Given the description of an element on the screen output the (x, y) to click on. 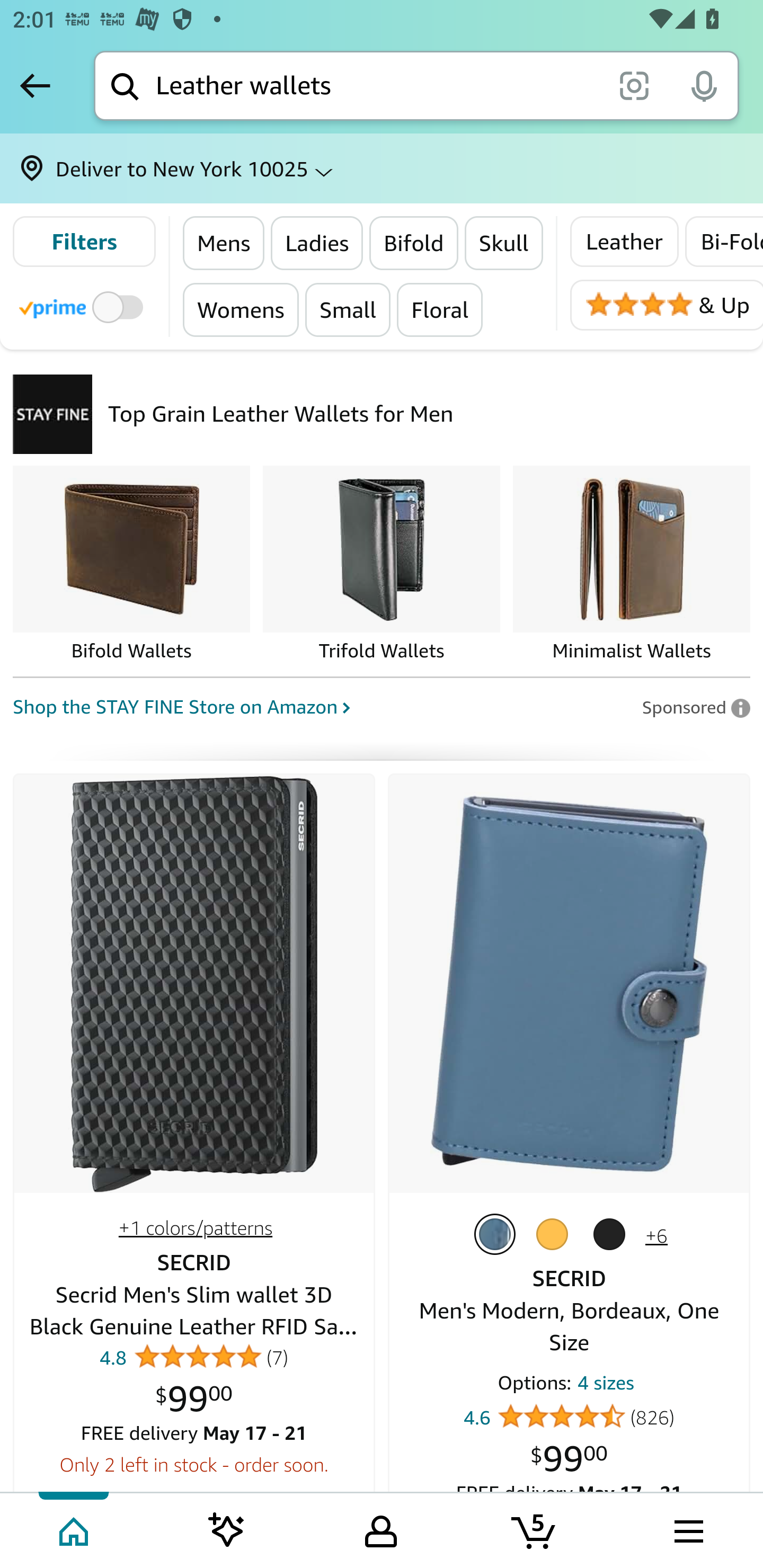
Back (35, 85)
scan it (633, 85)
Deliver to New York 10025 ⌵ (381, 168)
Filters (83, 241)
Mens (224, 242)
Ladies (316, 242)
Bifold (413, 242)
Skull (503, 242)
Leather (624, 241)
Bi-Fold (723, 241)
Toggle to filter by Prime products Prime Eligible (83, 306)
4 Stars & Up (666, 304)
Womens (241, 309)
Small (346, 309)
Floral (438, 309)
Go to store page for "Bifold Wallets". (131, 564)
Go to store page for "Trifold Wallets". (381, 564)
Go to store page for "Minimalist Wallets". (630, 564)
Leave feedback on Sponsored ad (695, 707)
SECRID Men's Modern, Bordeaux, One Size (568, 983)
Ice Blue (498, 1233)
Amber (555, 1233)
Black Gold (612, 1233)
+1 colors/patterns (195, 1227)
+6 (656, 1235)
4 sizes (605, 1386)
Home Tab 1 of 5 (75, 1529)
Inspire feed Tab 2 of 5 (227, 1529)
Your Amazon.com Tab 3 of 5 (380, 1529)
Cart 5 items Tab 4 of 5 5 (534, 1529)
Browse menu Tab 5 of 5 (687, 1529)
